Given the description of an element on the screen output the (x, y) to click on. 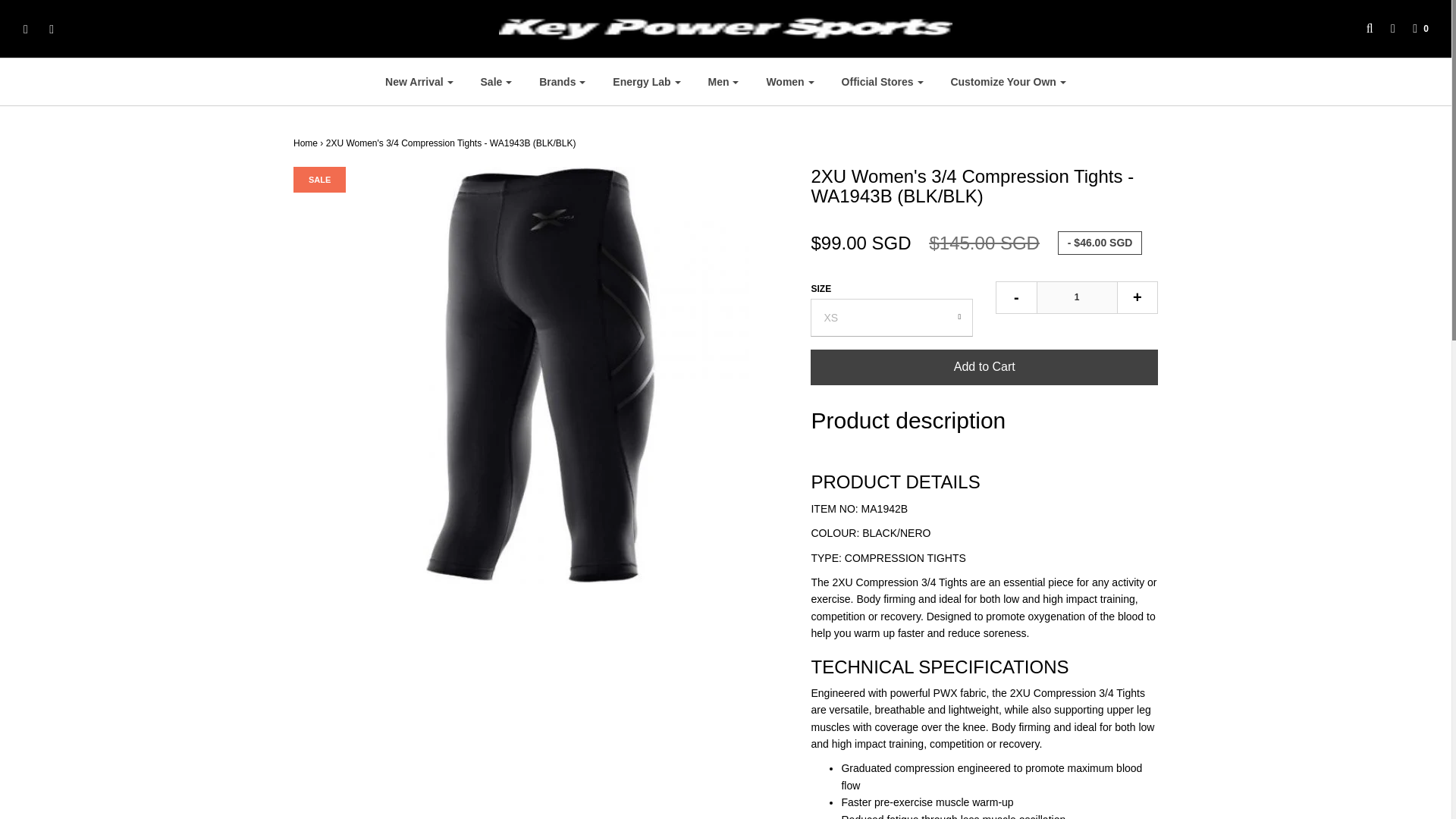
Search (1362, 28)
1 (1077, 297)
0 (1412, 28)
XS (891, 317)
New Arrival (419, 81)
Brands (561, 81)
Cart (1412, 28)
Log in (1384, 28)
Sale (496, 81)
Back to the frontpage (305, 143)
